Given the description of an element on the screen output the (x, y) to click on. 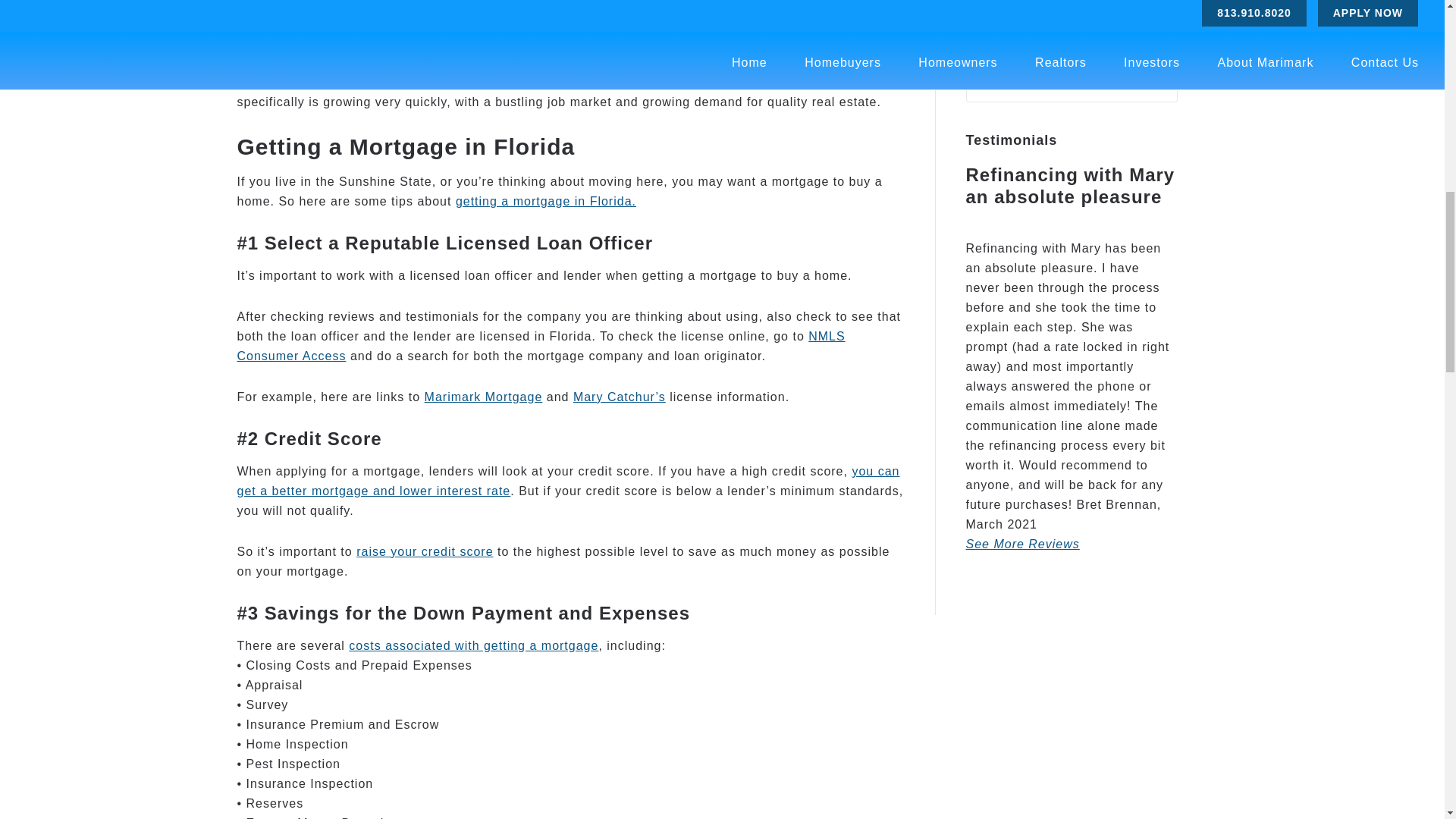
costs associated with getting a mortgage (473, 645)
getting a mortgage in Florida. (545, 201)
Marimark Mortgage (484, 396)
you can get a better mortgage and lower interest rate (567, 481)
raise your credit score (424, 551)
NMLS Consumer Access (539, 346)
